Given the description of an element on the screen output the (x, y) to click on. 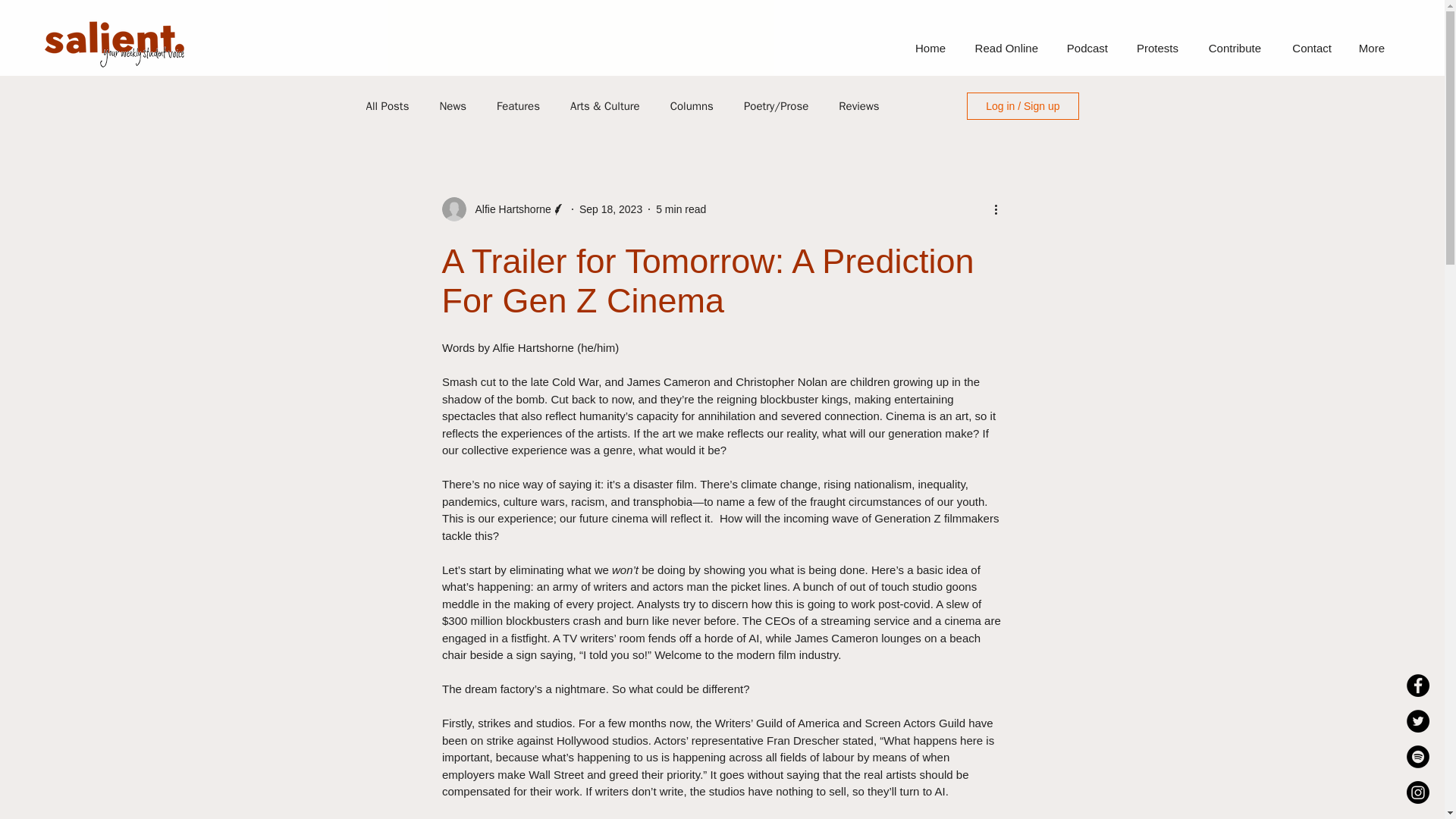
Contribute (1230, 48)
Columns (691, 105)
Sep 18, 2023 (610, 209)
All Posts (387, 105)
Podcast (1084, 48)
Alfie Hartshorne (507, 209)
Features (518, 105)
News (452, 105)
Protests (1154, 48)
Read Online (1002, 48)
5 min read (681, 209)
Reviews (858, 105)
Home (927, 48)
Contact (1307, 48)
